Given the description of an element on the screen output the (x, y) to click on. 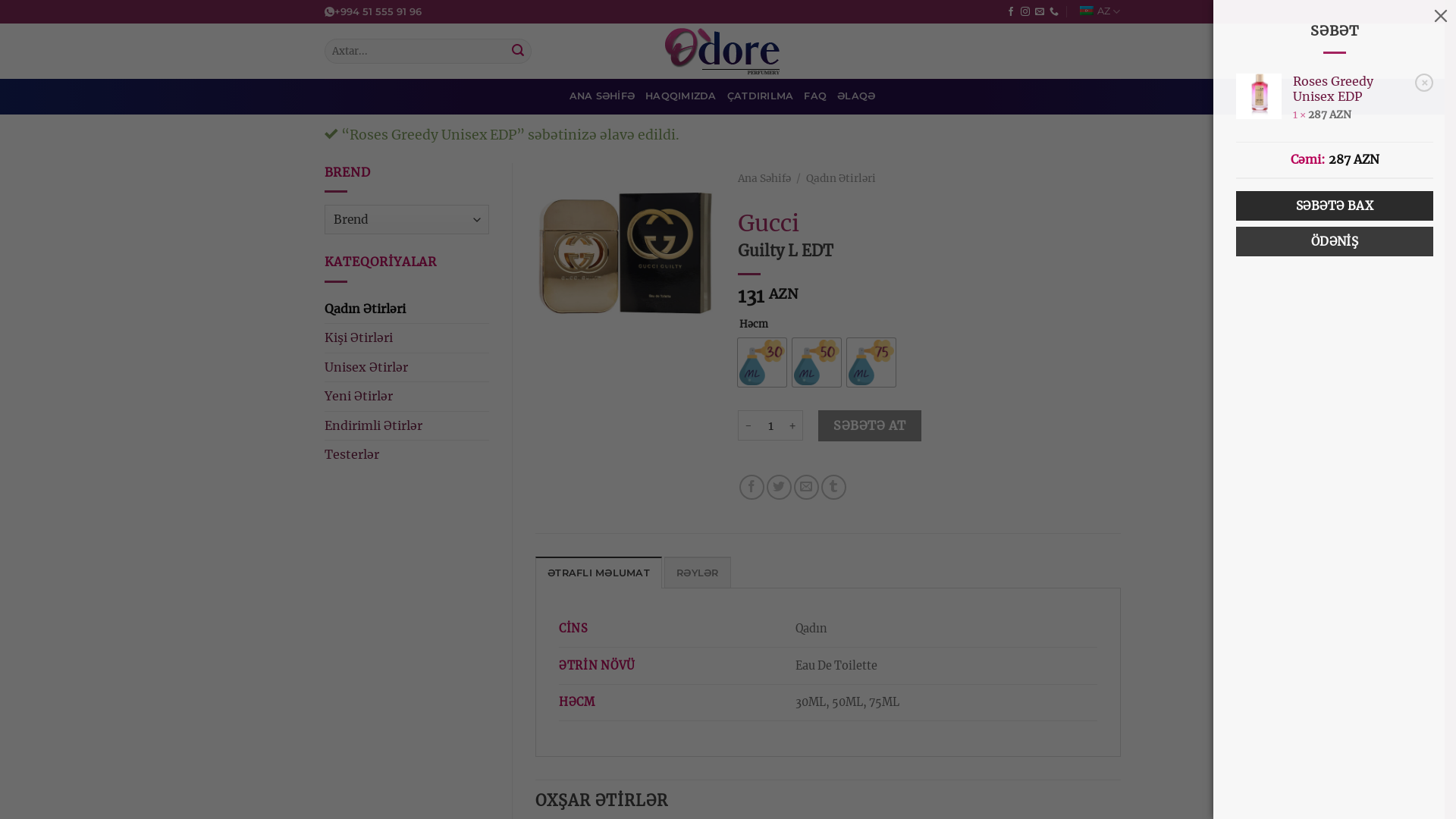
AZ Element type: text (1098, 11)
FAQ Element type: text (814, 95)
201362 Element type: hover (625, 252)
+994 51 555 91 96 Element type: text (372, 11)
75ML Element type: hover (871, 362)
Qty Element type: hover (770, 425)
Azerbaijani Element type: hover (1086, 10)
30ML Element type: hover (761, 362)
50ML Element type: hover (816, 362)
Axtar Element type: text (517, 50)
Gucci Element type: text (768, 222)
Roses Greedy Unisex EDP Element type: text (1351, 89)
HAQQIMIZDA Element type: text (680, 95)
